Given the description of an element on the screen output the (x, y) to click on. 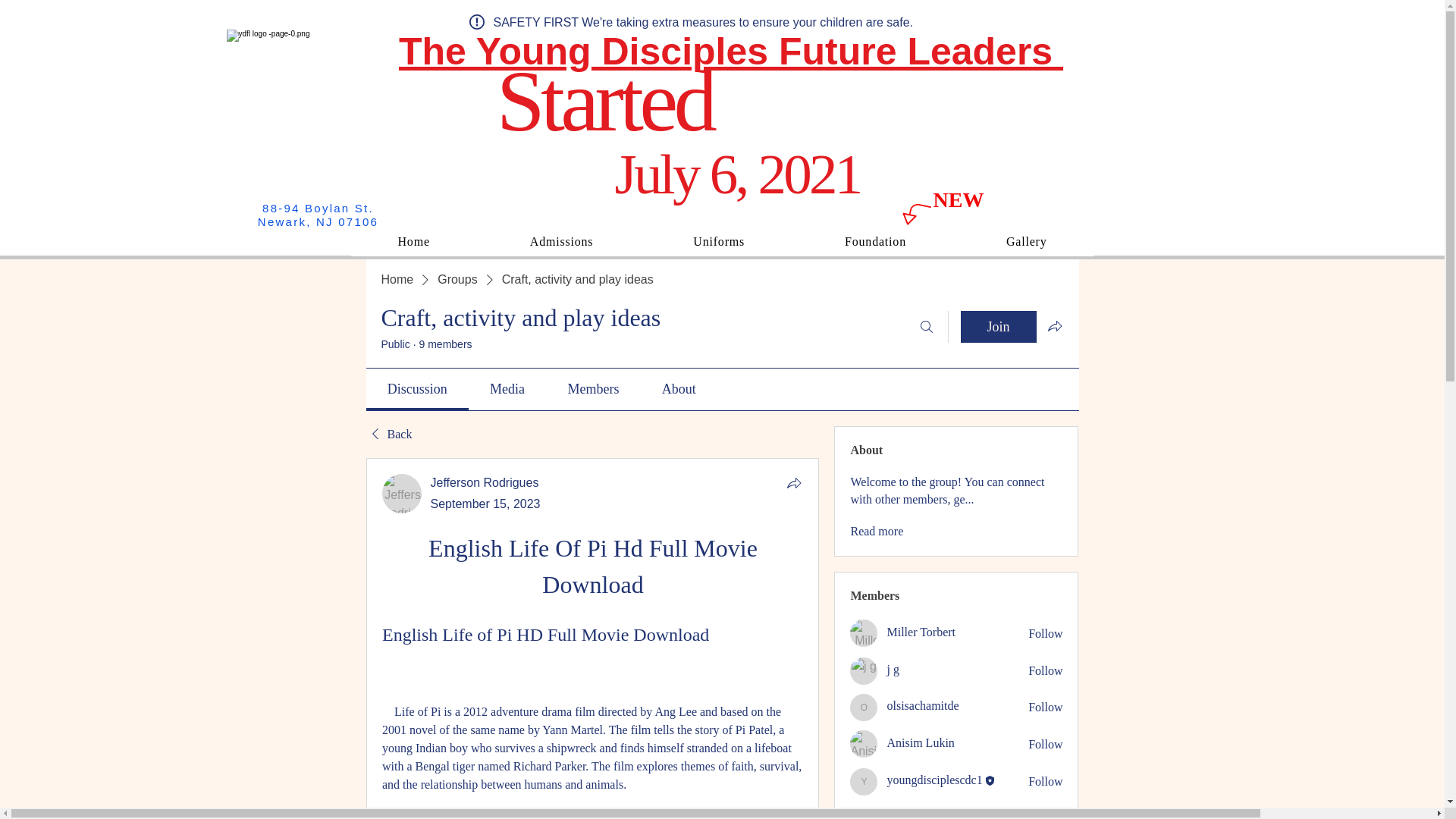
Foundation (875, 241)
Miller Torbert (863, 633)
j g (892, 668)
Miller Torbert (920, 631)
Home (396, 279)
Jefferson Rodrigues (401, 493)
Gallery (1026, 241)
olsisachamitde (863, 707)
Anisim Lukin (863, 743)
Follow (1044, 670)
